Given the description of an element on the screen output the (x, y) to click on. 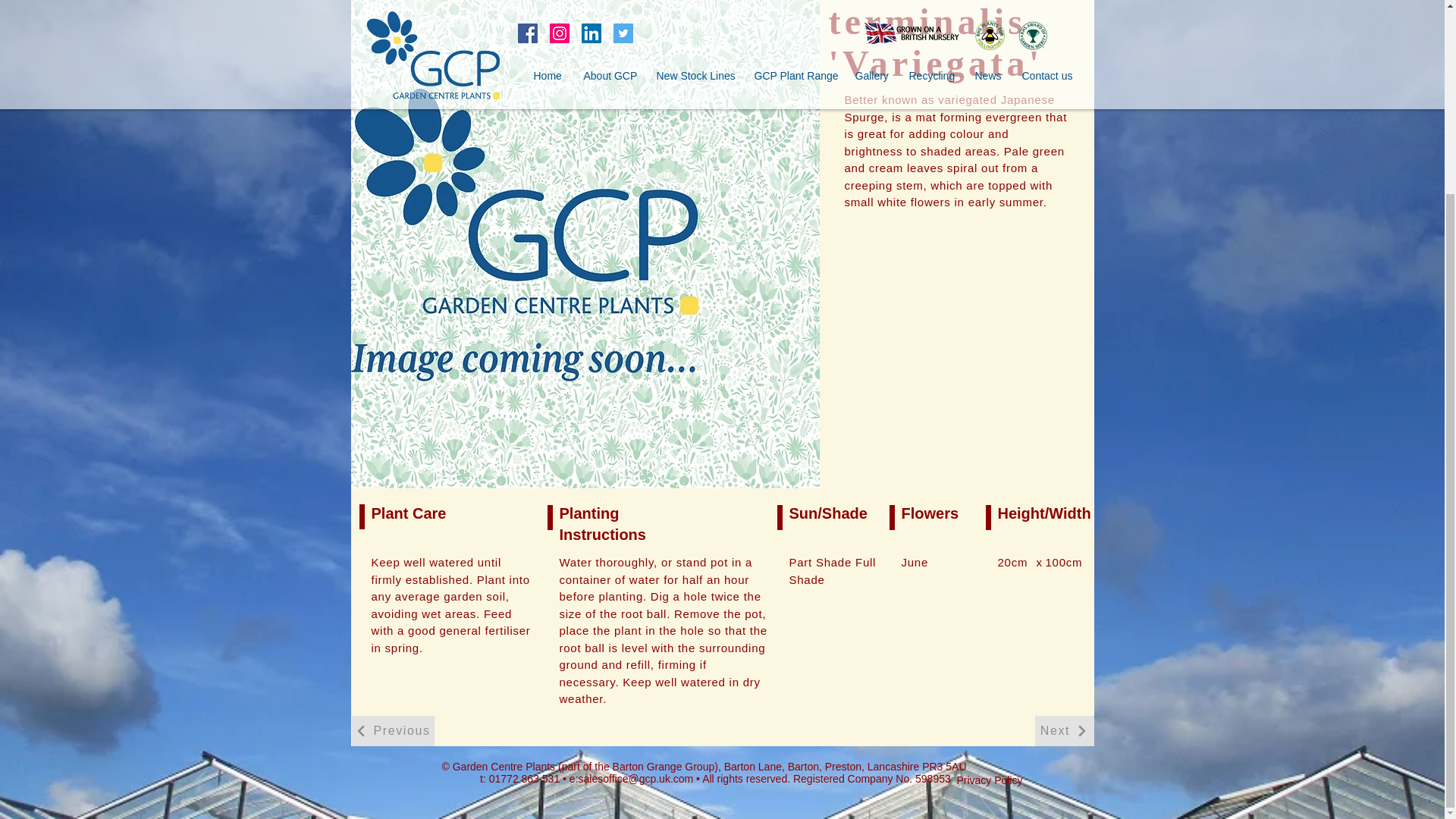
Next (1063, 730)
Privacy Policy (989, 780)
Previous (392, 730)
